Given the description of an element on the screen output the (x, y) to click on. 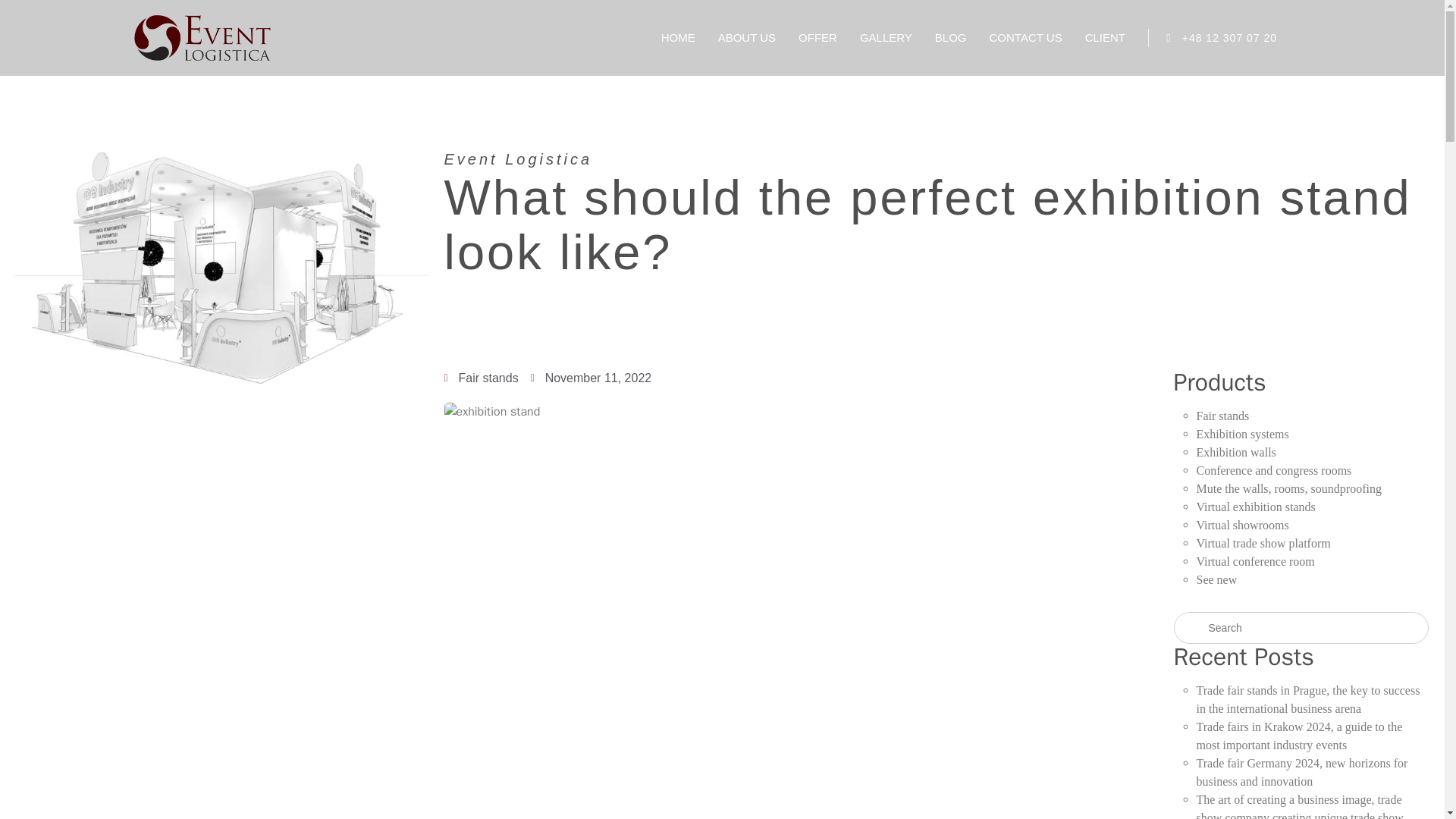
OFFER (817, 37)
ABOUT US (746, 37)
CLIENT (1104, 37)
BLOG (950, 37)
HOME (678, 37)
GALLERY (886, 37)
CONTACT US (1026, 37)
